Given the description of an element on the screen output the (x, y) to click on. 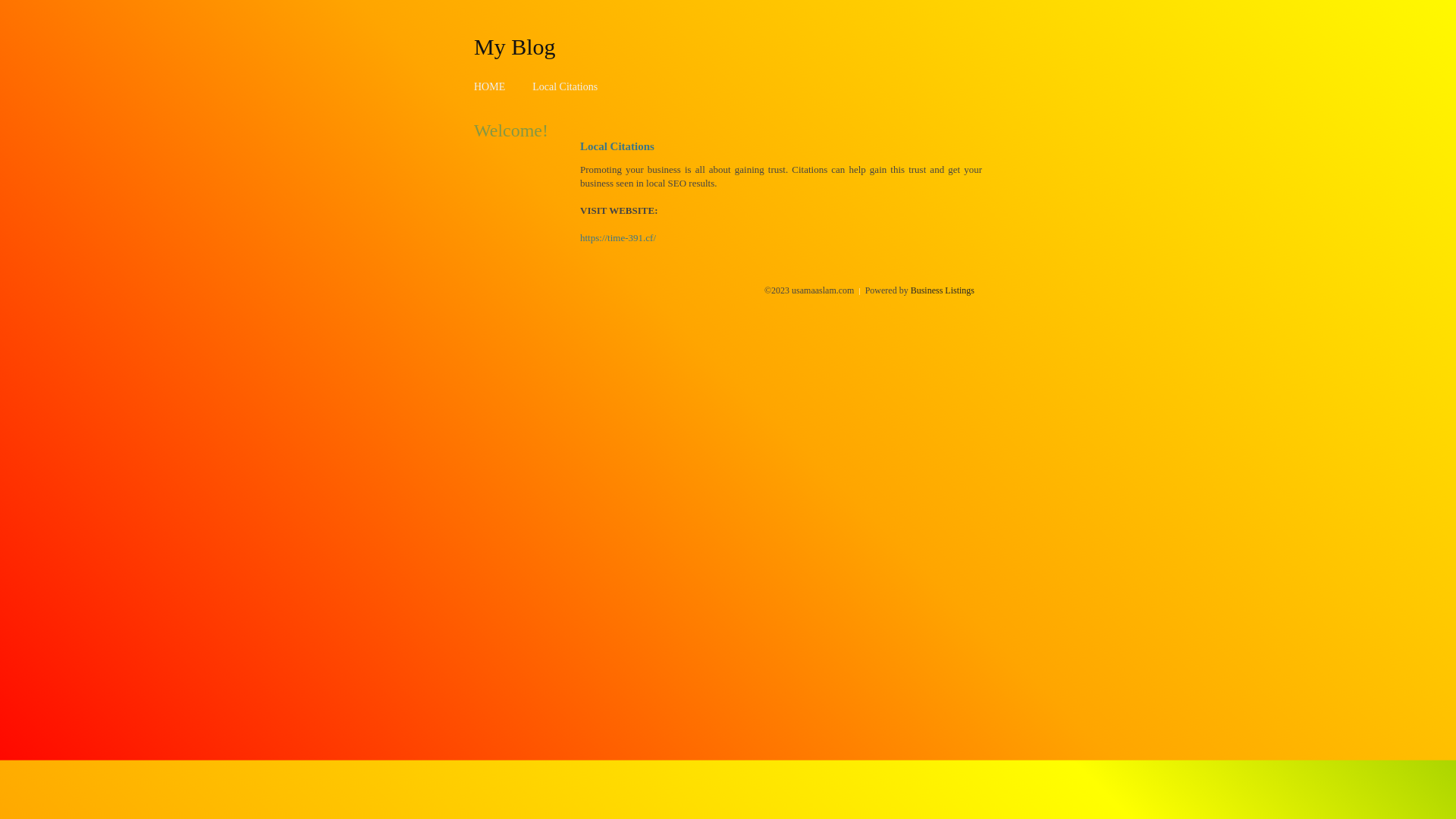
https://time-391.cf/ Element type: text (617, 237)
My Blog Element type: text (514, 46)
HOME Element type: text (489, 86)
Business Listings Element type: text (942, 290)
Local Citations Element type: text (564, 86)
